Given the description of an element on the screen output the (x, y) to click on. 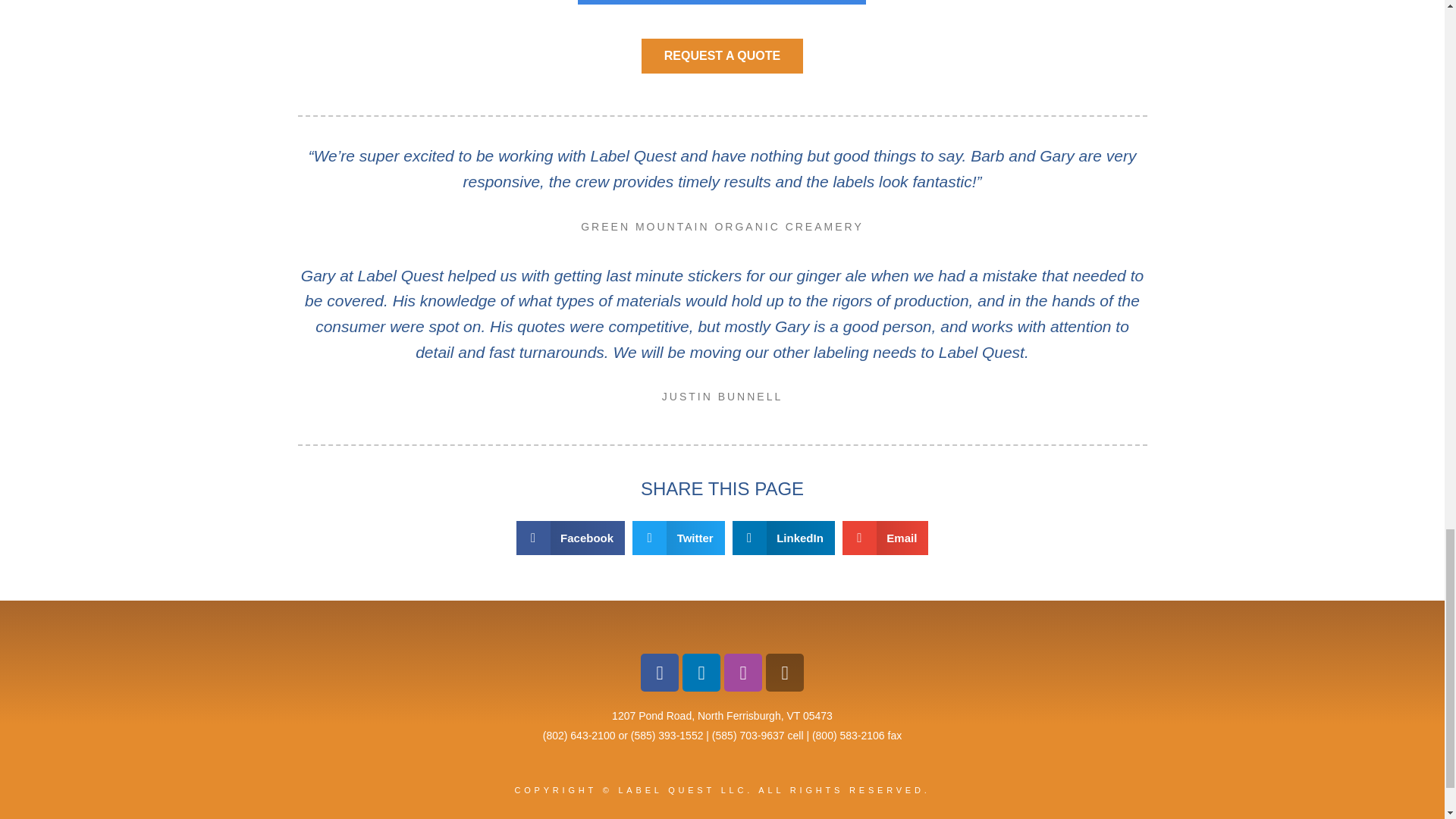
REQUEST A QUOTE (722, 55)
